Given the description of an element on the screen output the (x, y) to click on. 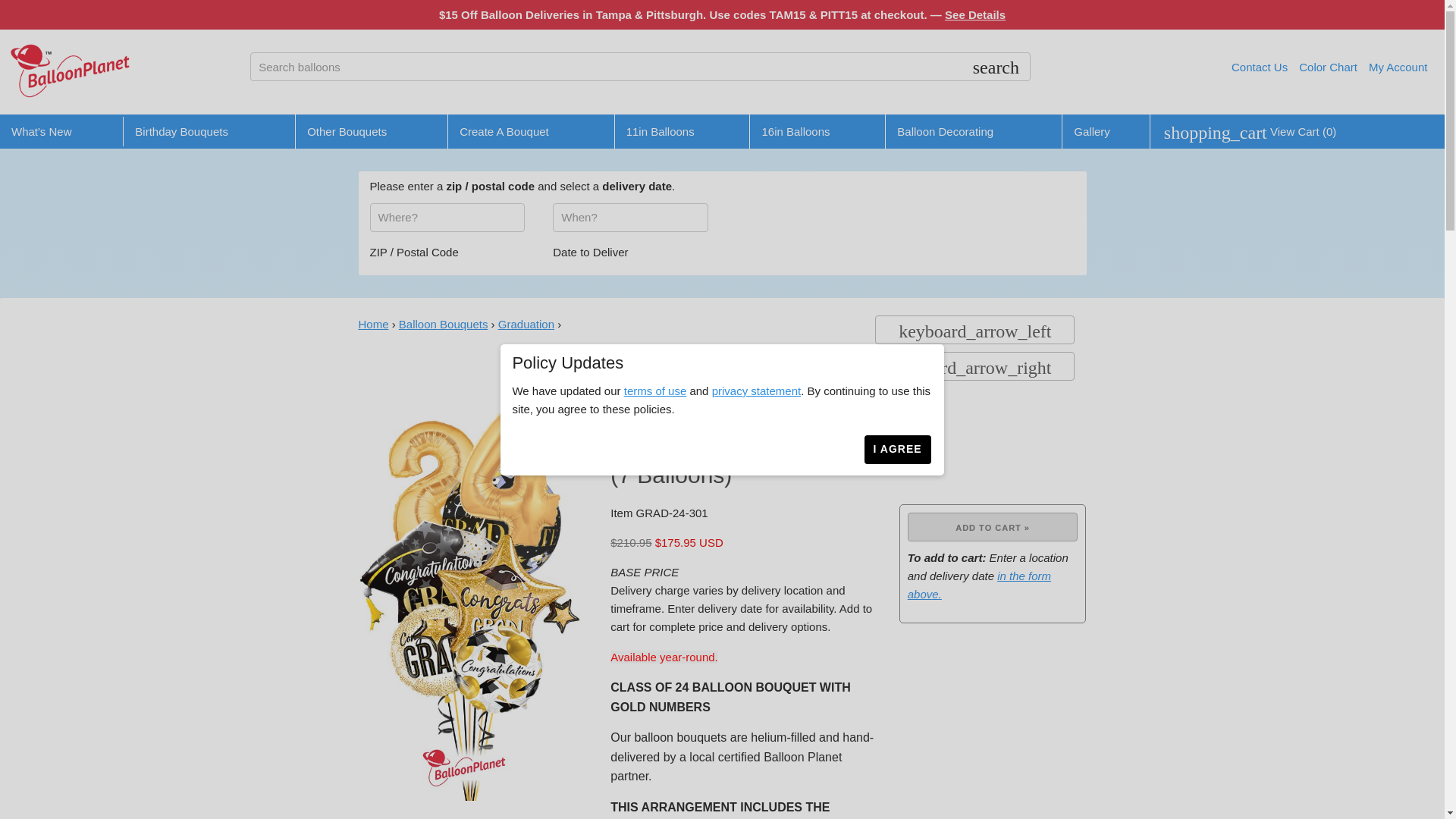
Color Chart (1327, 66)
What's New (41, 130)
See Details (975, 13)
Birthday Bouquets (181, 130)
My Account (1398, 66)
Contact Us (1259, 66)
Other Bouquets (347, 130)
